Given the description of an element on the screen output the (x, y) to click on. 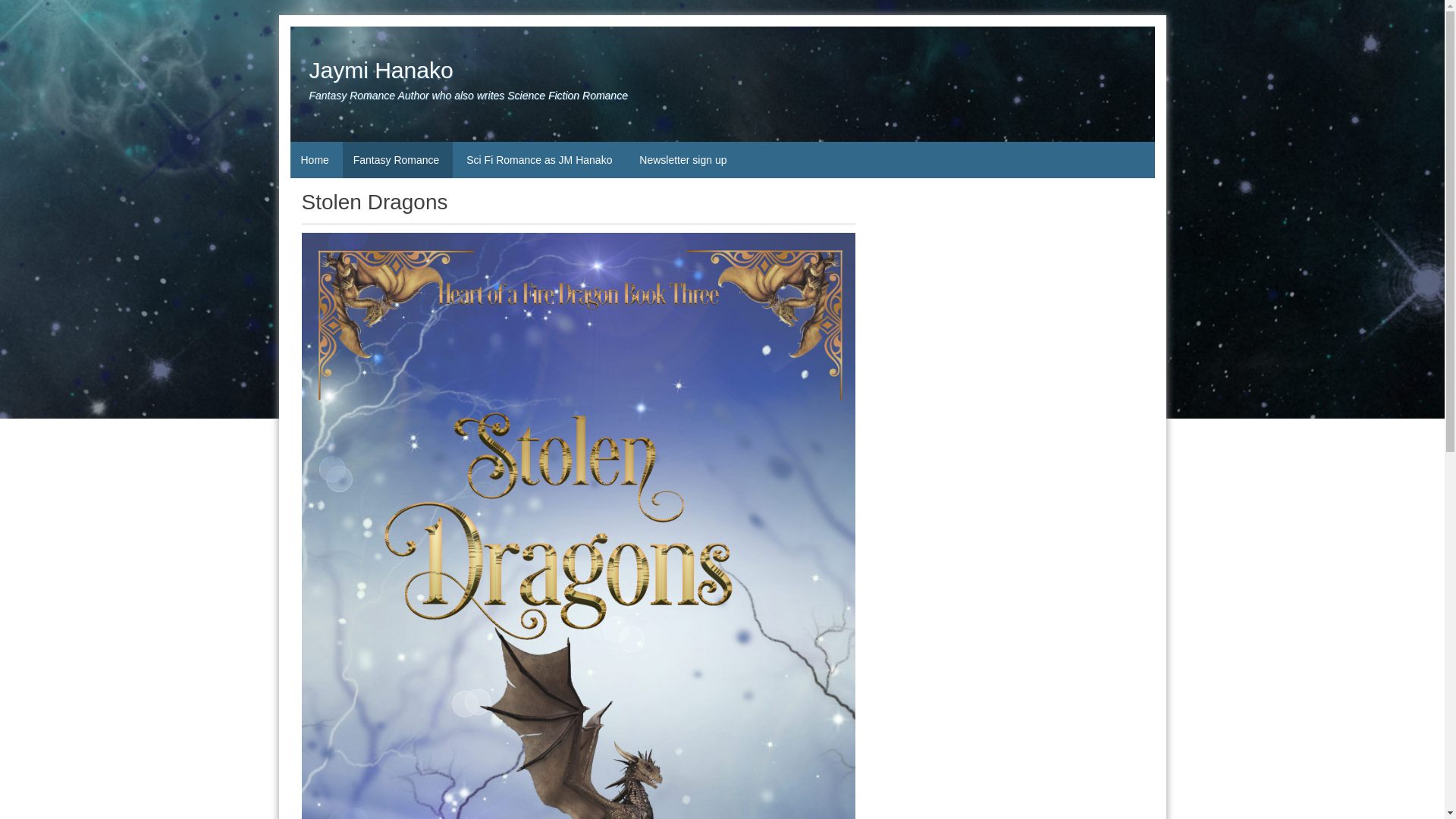
Fantasy Romance (397, 159)
Sci Fi Romance as JM Hanako (540, 159)
Newsletter sign up (682, 159)
Home (314, 159)
Jaymi Hanako (380, 69)
